Given the description of an element on the screen output the (x, y) to click on. 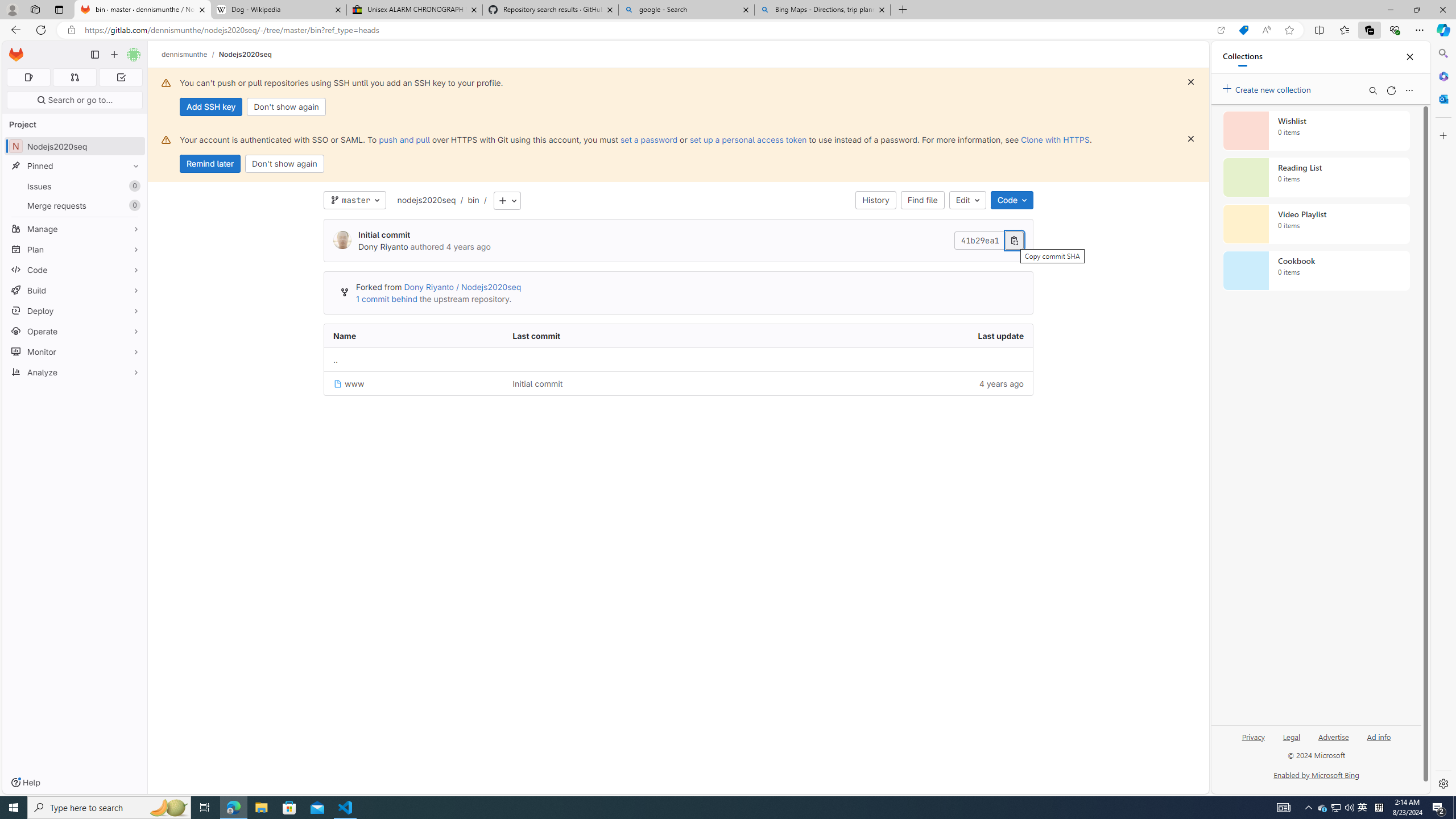
History (876, 199)
Don't show again (284, 163)
master (355, 199)
Monitor (74, 351)
www (348, 383)
Create new... (113, 54)
Plan (74, 248)
Class: s16 gl-icon gl-button-icon  (1190, 138)
Class: s16 position-relative file-icon (337, 384)
